Given the description of an element on the screen output the (x, y) to click on. 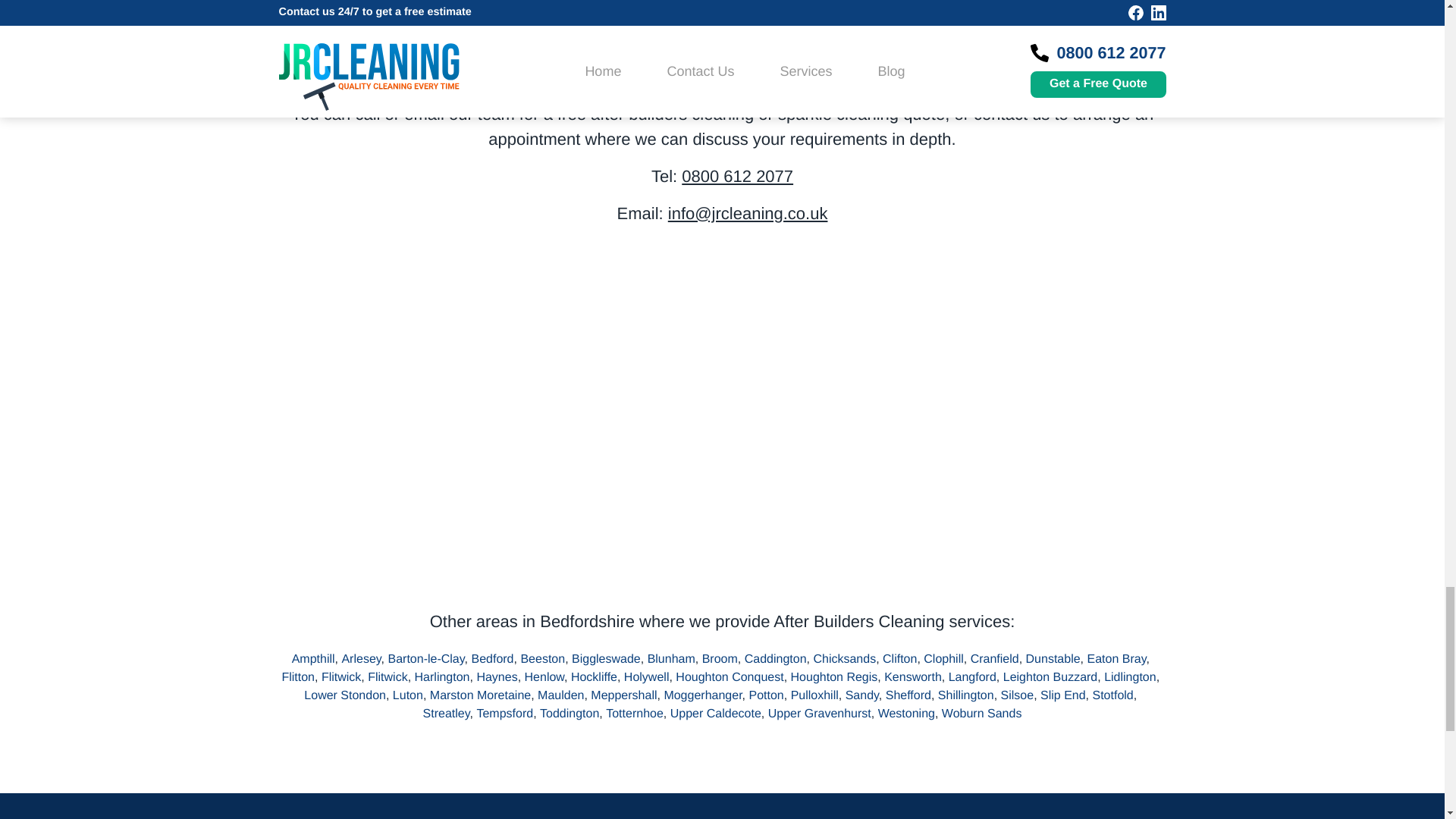
Blunham (674, 658)
Ampthill (317, 658)
Biggleswade (609, 658)
Clophill (946, 658)
Arlesey (363, 658)
Cranfield (998, 658)
Barton-le-Clay (429, 658)
Bedford (494, 658)
Beeston (545, 658)
Chicksands (847, 658)
Clifton (902, 658)
0800 612 2077 (737, 176)
Caddington (778, 658)
Dunstable (1056, 658)
